Given the description of an element on the screen output the (x, y) to click on. 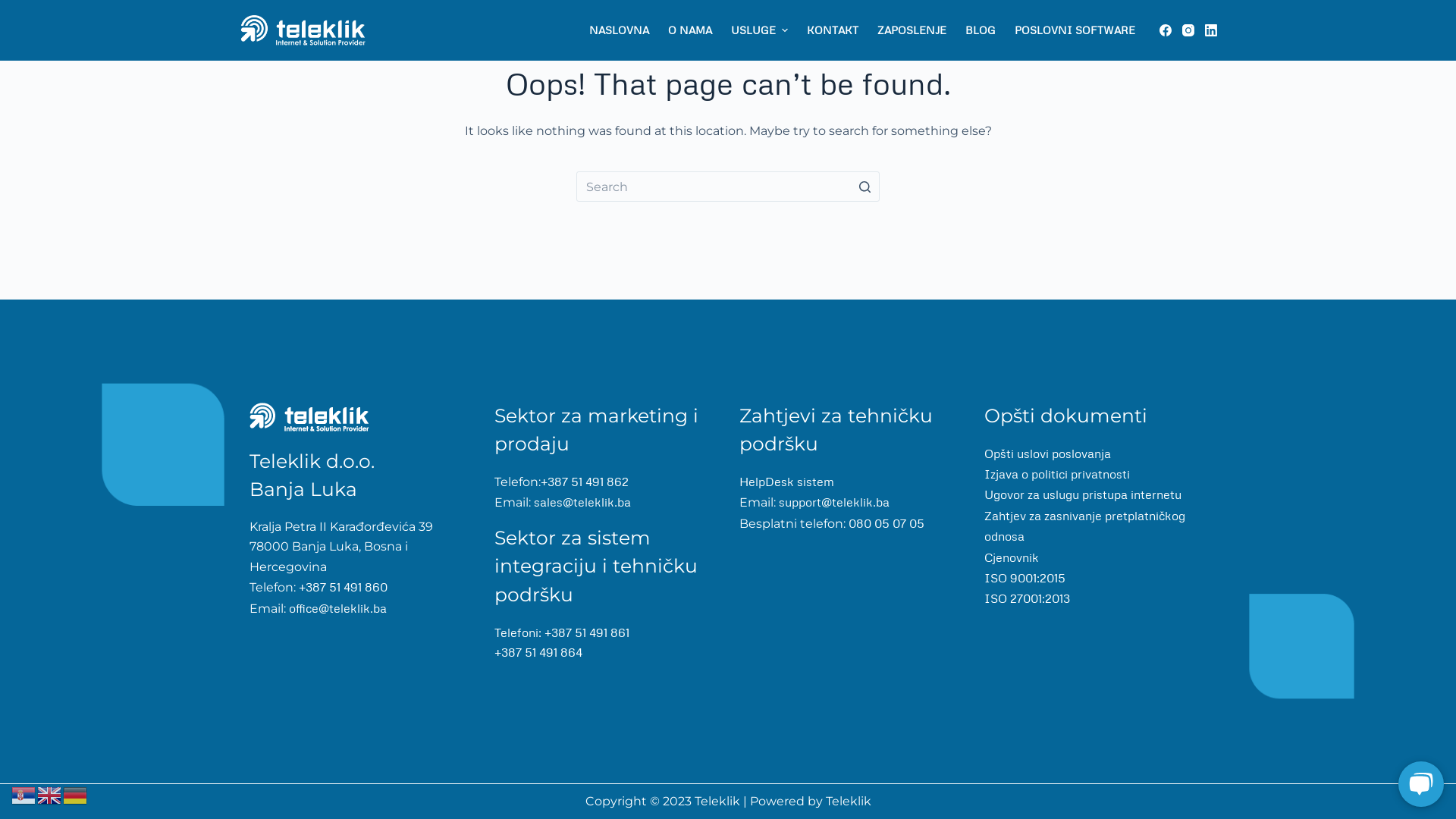
Cjenovnik Element type: text (1011, 556)
support@teleklik.ba Element type: text (832, 501)
ISO 9001:2015 Element type: text (1024, 577)
+387 51 491 864 Element type: text (538, 651)
BLOG Element type: text (979, 30)
+387 51 491 860 Element type: text (341, 586)
ZAPOSLENJE Element type: text (911, 30)
Search for... Element type: hover (727, 186)
Skip to content Element type: text (15, 7)
USLUGE Element type: text (759, 30)
POSLOVNI SOFTWARE Element type: text (1074, 30)
KONTAKT Element type: text (832, 30)
ISO 27001:2013 Element type: text (1027, 597)
Izjava o politici privatnosti Element type: text (1056, 473)
NASLOVNA Element type: text (618, 30)
Ugovor za uslugu pristupa internetu Element type: text (1082, 494)
office@teleklik.ba Element type: text (335, 607)
O NAMA Element type: text (689, 30)
HelpDesk sistem Element type: text (786, 481)
English Element type: hover (49, 793)
German Element type: hover (75, 793)
080 05 07 05 Element type: text (884, 522)
sales@teleklik.ba Element type: text (581, 501)
+387 51 491 862 Element type: text (584, 481)
Serbian Element type: hover (24, 793)
+387 51 491 861 Element type: text (586, 632)
